Given the description of an element on the screen output the (x, y) to click on. 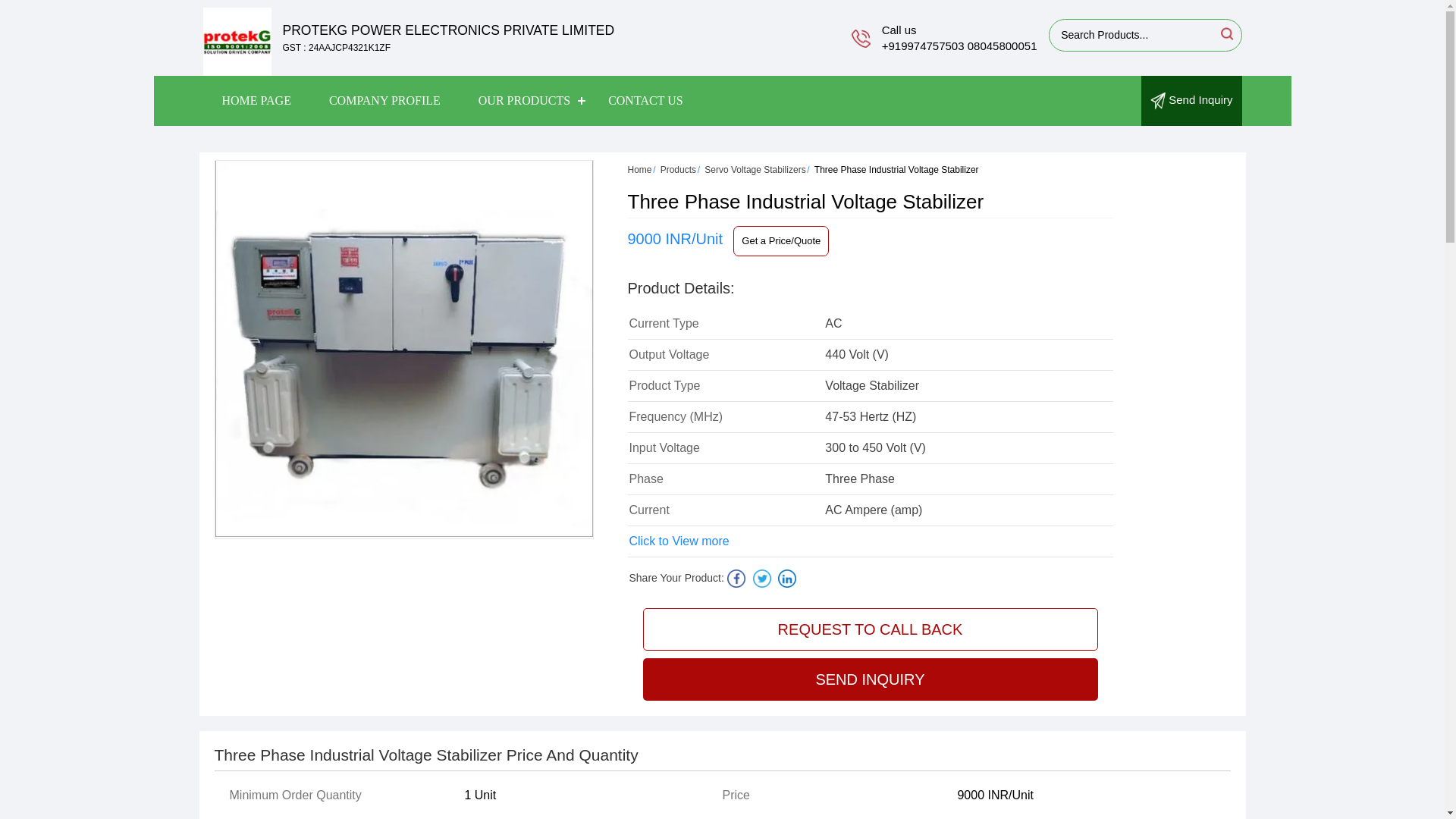
submit (1225, 33)
OUR PRODUCTS (524, 101)
Products (678, 169)
Servo Voltage Stabilizers (754, 169)
Search Products... (1133, 34)
Home (639, 169)
Click to View more (678, 541)
CONTACT US (645, 101)
Search (1225, 33)
Send Inquiry (1190, 100)
HOME PAGE (256, 101)
COMPANY PROFILE (385, 101)
Search Products... (1133, 34)
